Given the description of an element on the screen output the (x, y) to click on. 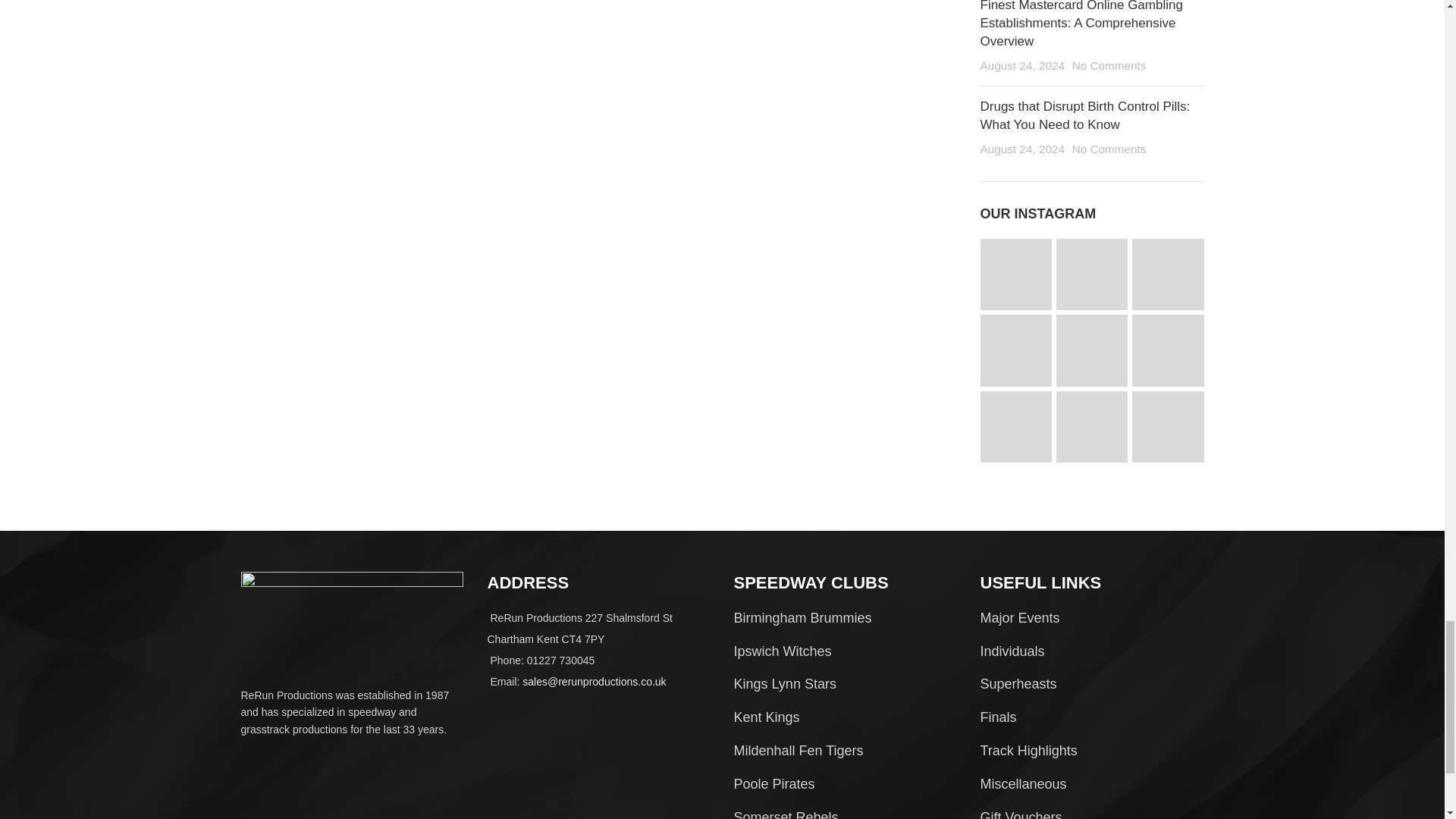
rerun logo (352, 615)
